Given the description of an element on the screen output the (x, y) to click on. 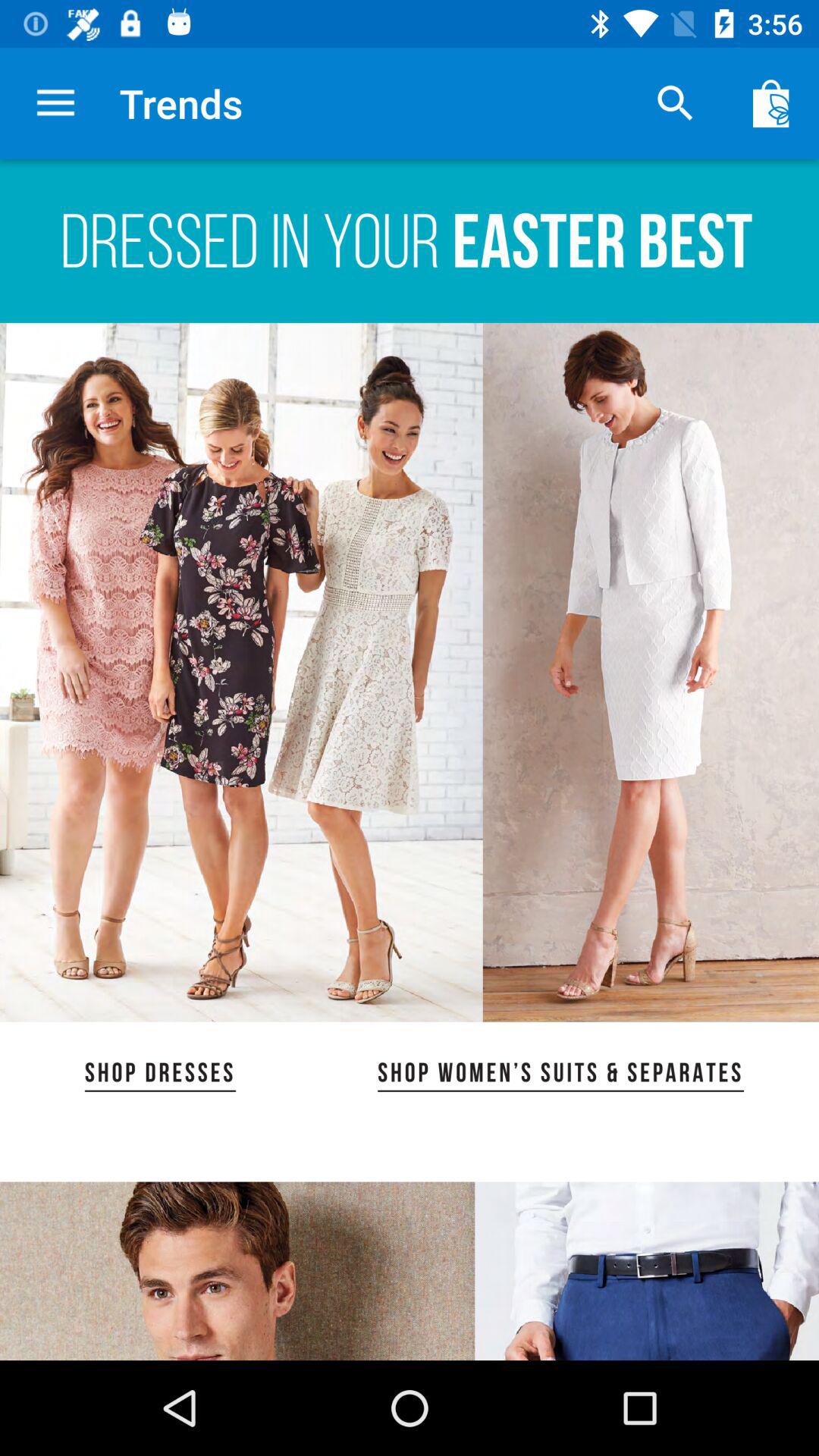
launch app to the left of trends (55, 103)
